Given the description of an element on the screen output the (x, y) to click on. 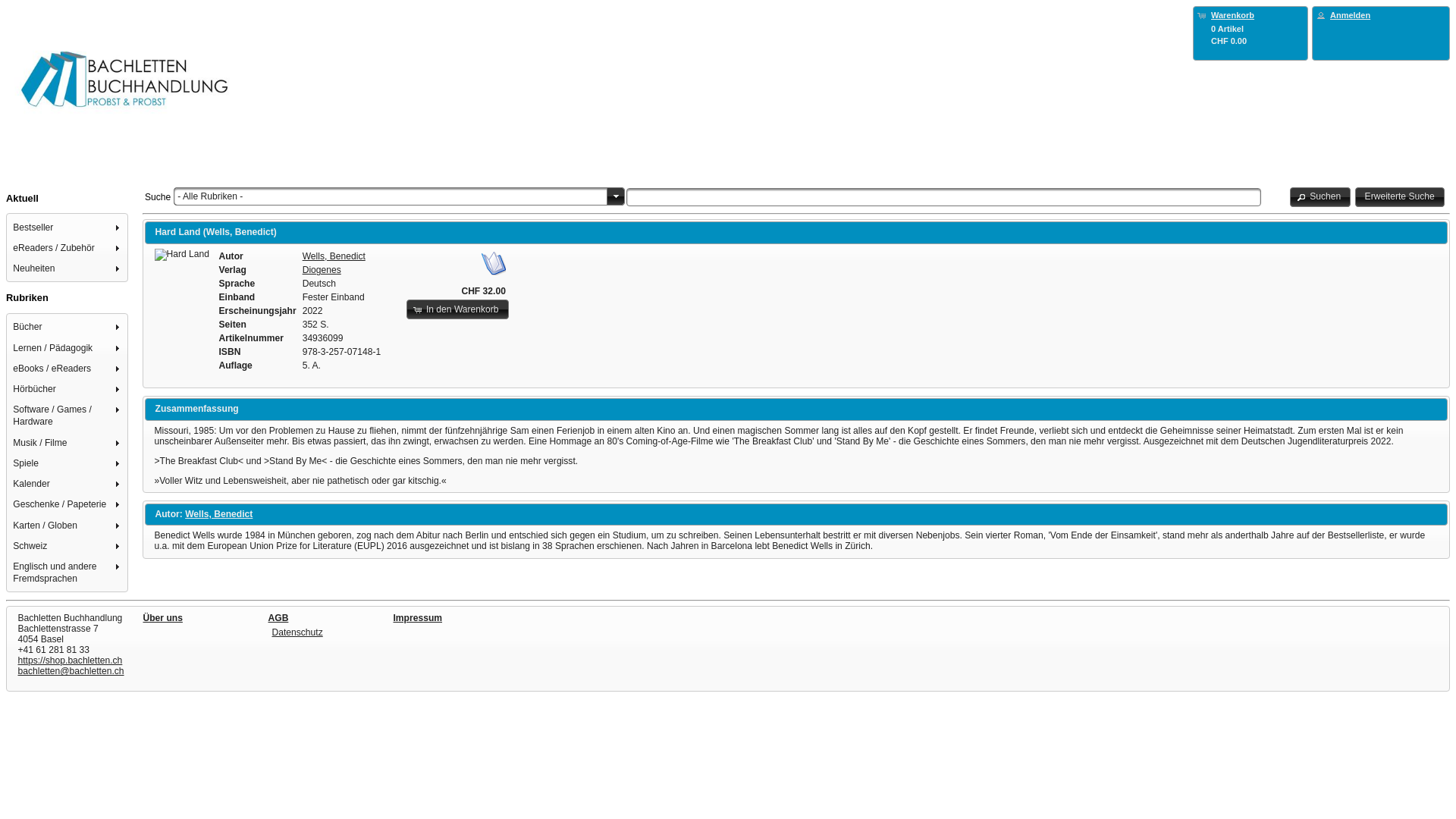
Buch Element type: hover (493, 263)
AGB Element type: text (278, 617)
Software / Games / Hardware Element type: text (67, 415)
Neuheiten Element type: text (67, 268)
Wells, Benedict Element type: text (218, 513)
In den Warenkorb Element type: text (457, 309)
Englisch und andere Fremdsprachen Element type: text (67, 572)
Erweiterte Suche Element type: text (1399, 197)
Impressum Element type: text (417, 617)
Musik / Filme Element type: text (67, 442)
Wells, Benedict Element type: text (333, 256)
Kalender Element type: text (67, 483)
eBooks / eReaders Element type: text (67, 367)
Bestseller Element type: text (67, 226)
Buch Element type: hover (181, 254)
Warenkorb
0 Artikel
CHF 0.00 Element type: text (1250, 26)
Suchen Element type: text (1320, 197)
Anmelden Element type: text (1350, 14)
Diogenes Element type: text (321, 269)
Karten / Globen Element type: text (67, 524)
Geschenke / Papeterie Element type: text (67, 504)
Spiele Element type: text (67, 462)
bachletten@bachletten.ch Element type: text (71, 670)
https://shop.bachletten.ch Element type: text (70, 660)
Datenschutz Element type: text (296, 632)
Schweiz Element type: text (67, 545)
